Given the description of an element on the screen output the (x, y) to click on. 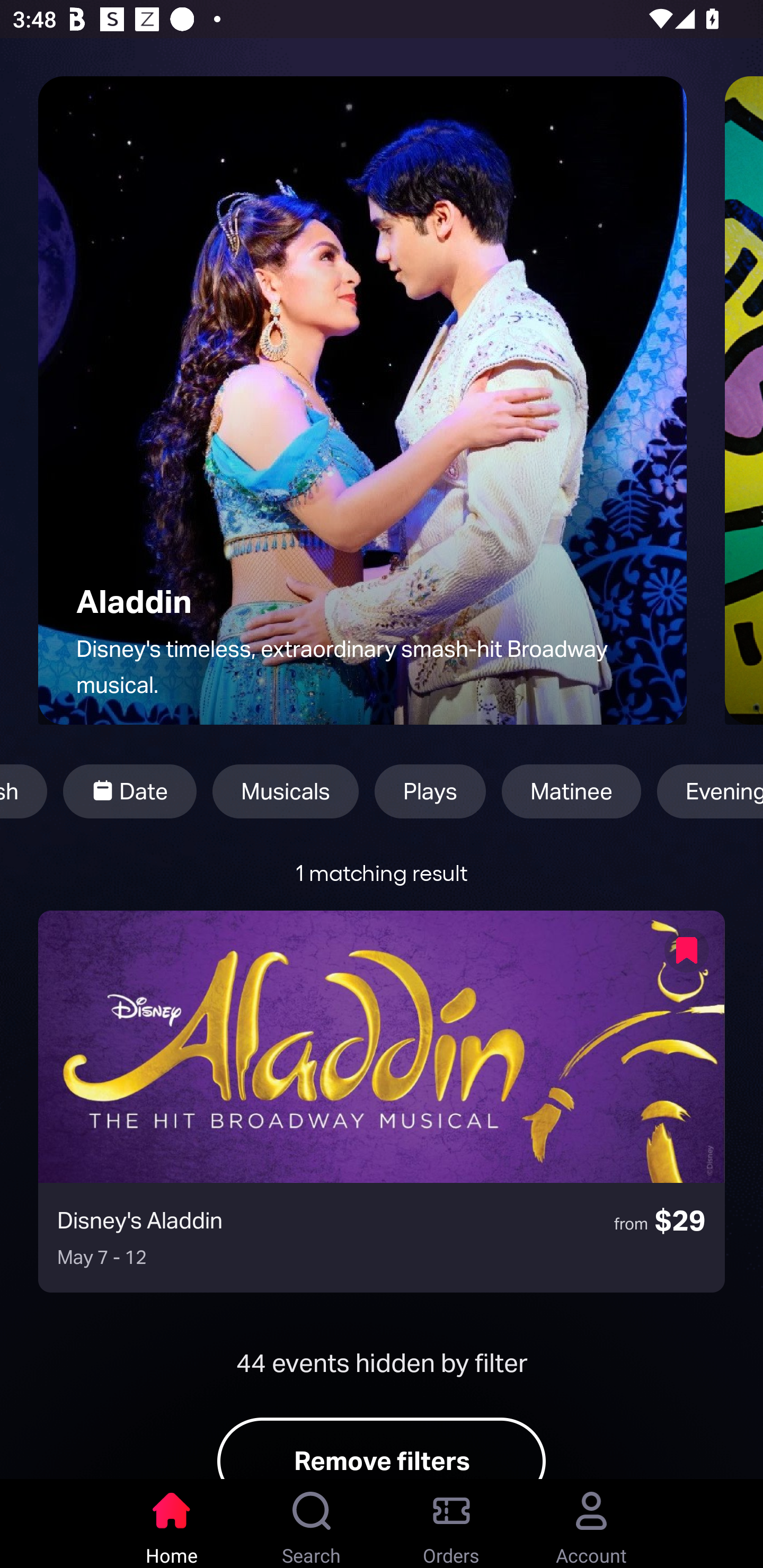
Date (129, 791)
Musicals (285, 791)
Plays (430, 791)
Matinee (571, 791)
Disney's Aladdin from $29 May 7 - 12 (381, 1101)
Remove filters (381, 1447)
Search (311, 1523)
Orders (451, 1523)
Account (591, 1523)
